Given the description of an element on the screen output the (x, y) to click on. 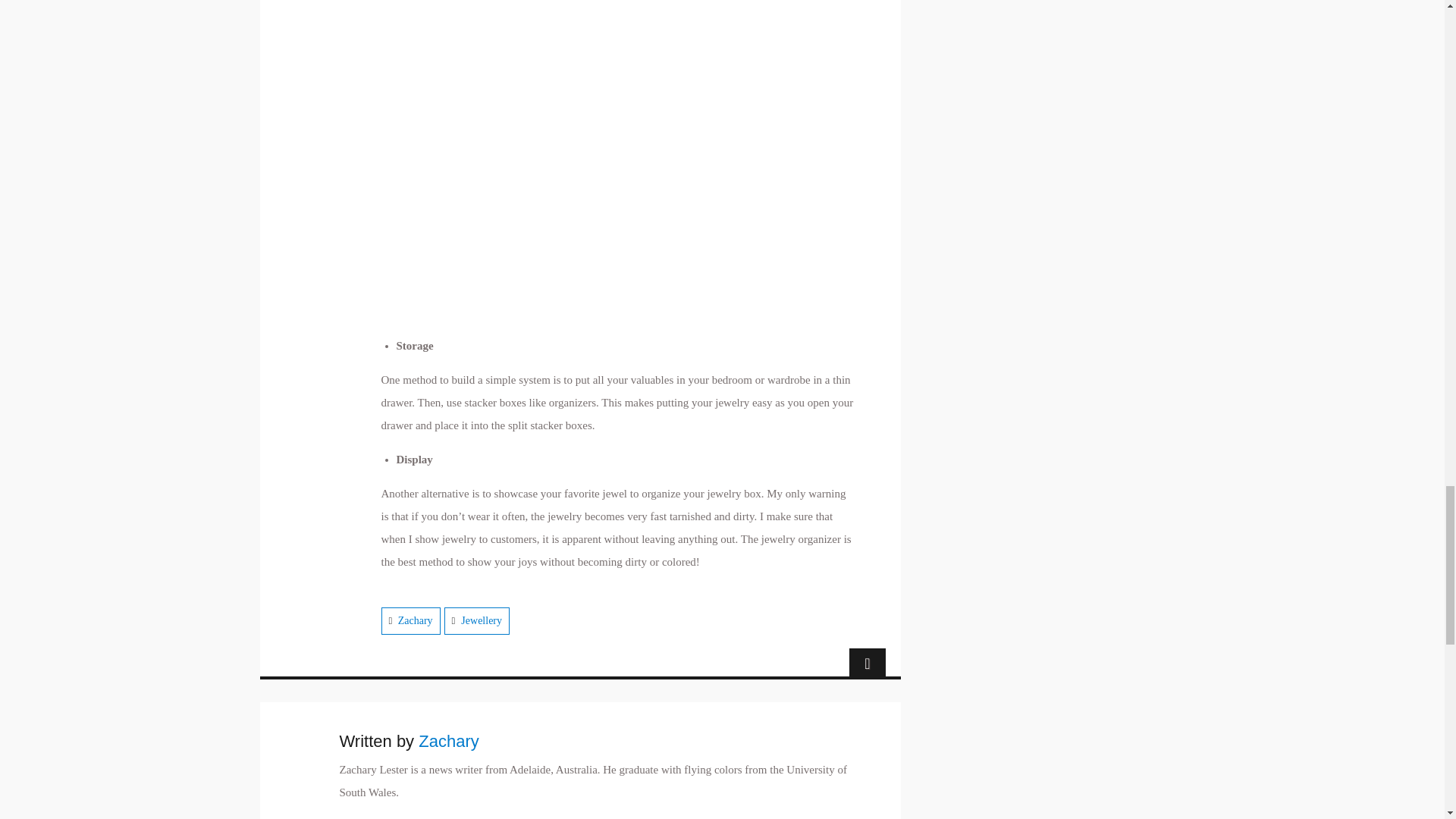
Zachary (449, 741)
Zachary (414, 620)
Posts by Zachary (449, 741)
Jewellery (481, 620)
